Given the description of an element on the screen output the (x, y) to click on. 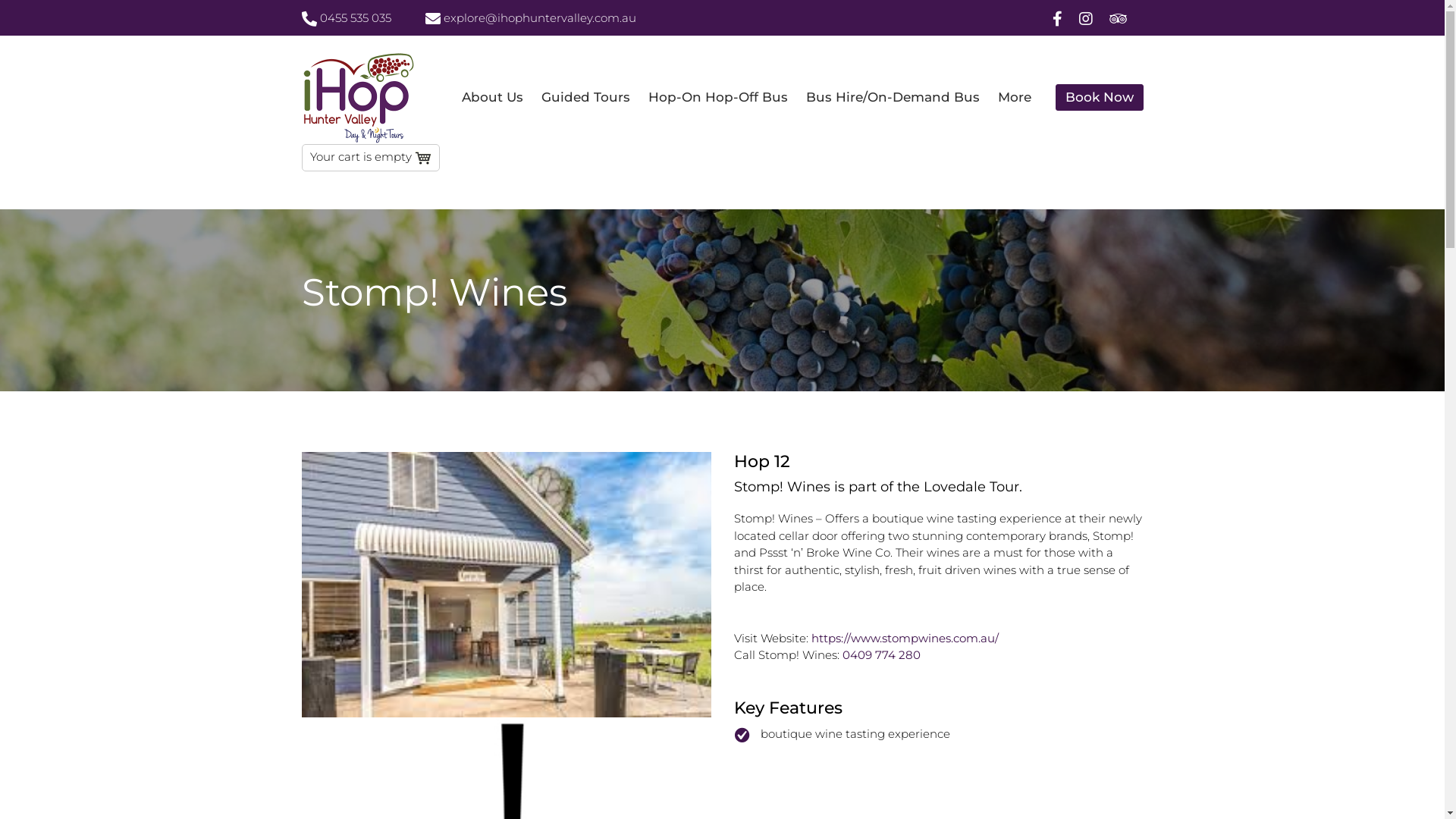
https://www.stompwines.com.au/ Element type: text (904, 637)
explore@ihophuntervalley.com.au Element type: text (529, 18)
About Us Element type: text (491, 97)
More Element type: text (1014, 97)
Book Now Element type: text (1099, 97)
Bus Hire/On-Demand Bus Element type: text (892, 97)
Guided Tours Element type: text (585, 97)
0455 535 035 Element type: text (346, 18)
0409 774 280 Element type: text (880, 654)
Hop-On Hop-Off Bus Element type: text (717, 97)
